Given the description of an element on the screen output the (x, y) to click on. 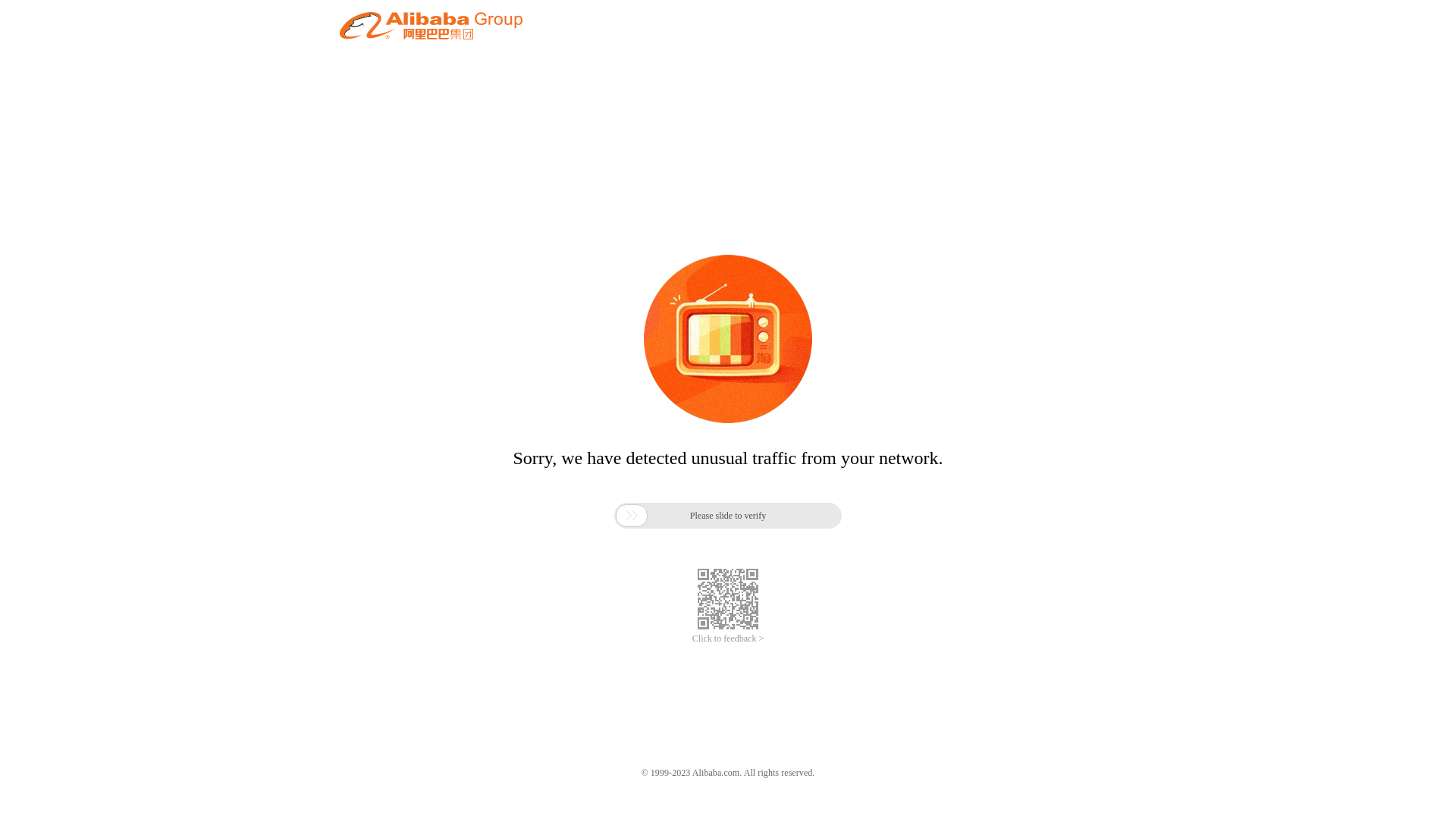
Click to feedback > Element type: text (727, 638)
